Given the description of an element on the screen output the (x, y) to click on. 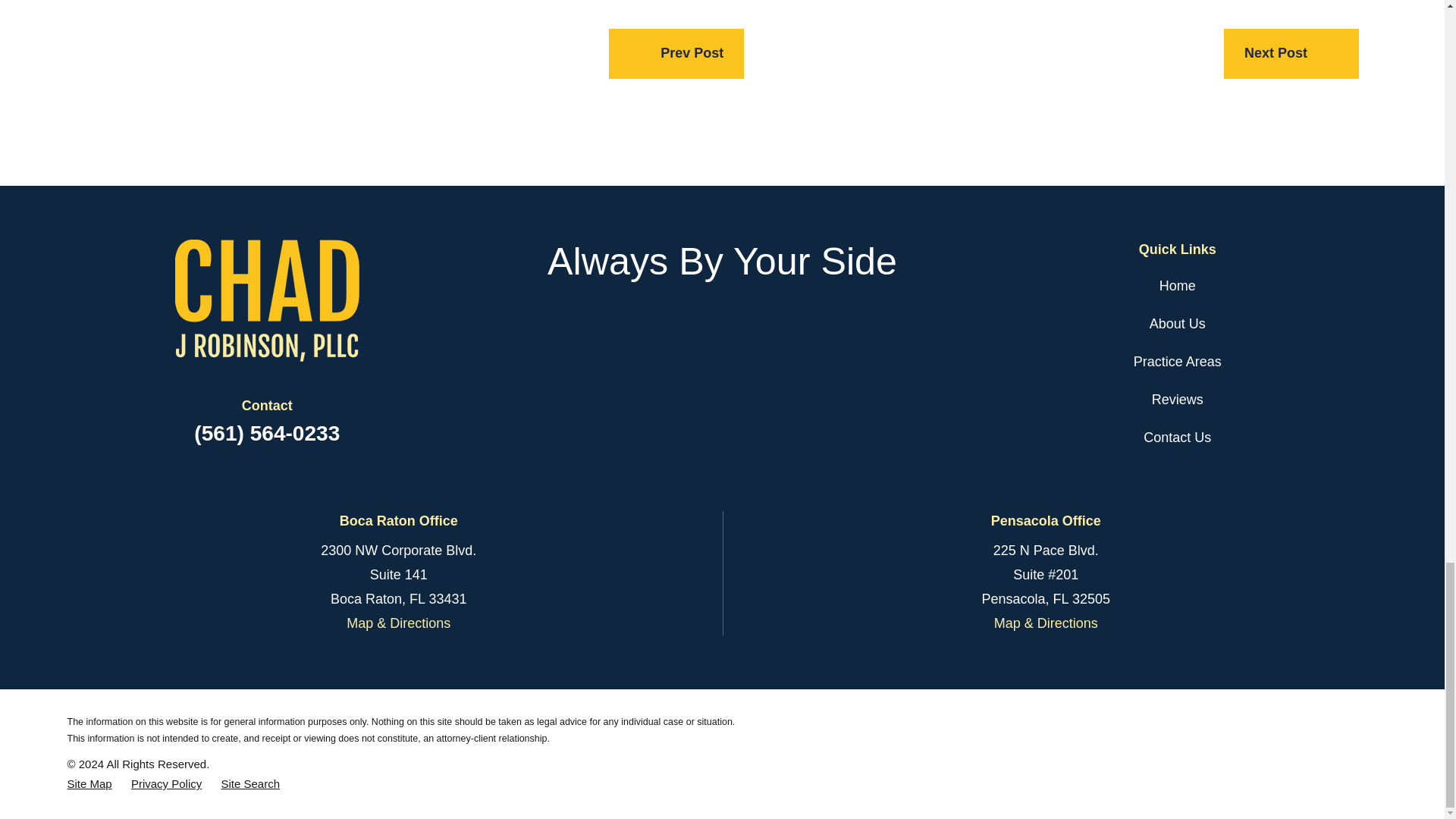
Google Business Profile (761, 326)
LinkedIn (722, 326)
Facebook (682, 326)
Home (266, 300)
